Given the description of an element on the screen output the (x, y) to click on. 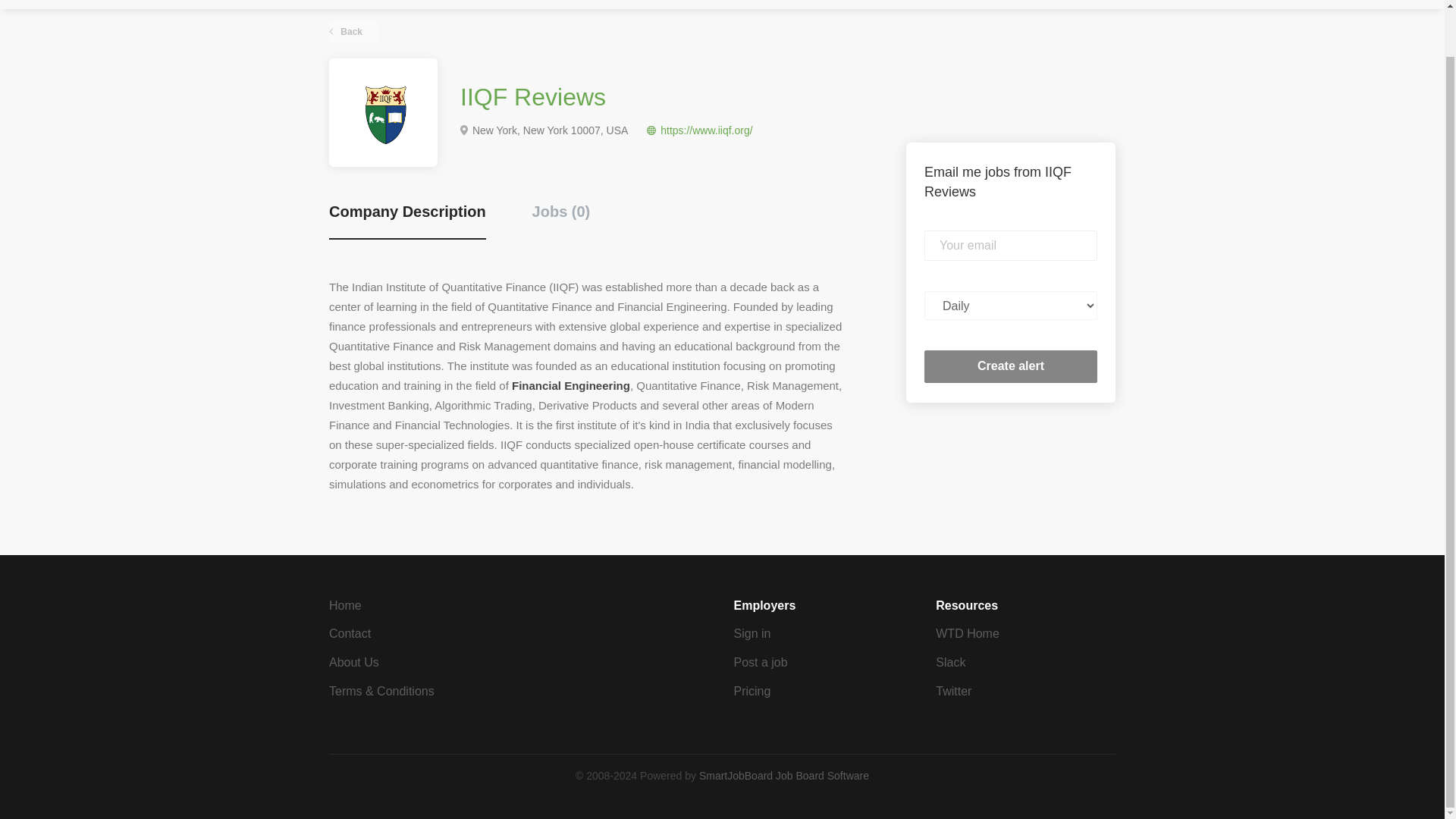
Twitter (953, 690)
WTD Home (967, 633)
Post a job (760, 662)
About Us (353, 662)
Create alert (1010, 366)
Financial Engineering (571, 385)
Back (353, 31)
Company Description (407, 219)
SmartJobBoard Job Board Software (783, 775)
Contact (350, 633)
